Given the description of an element on the screen output the (x, y) to click on. 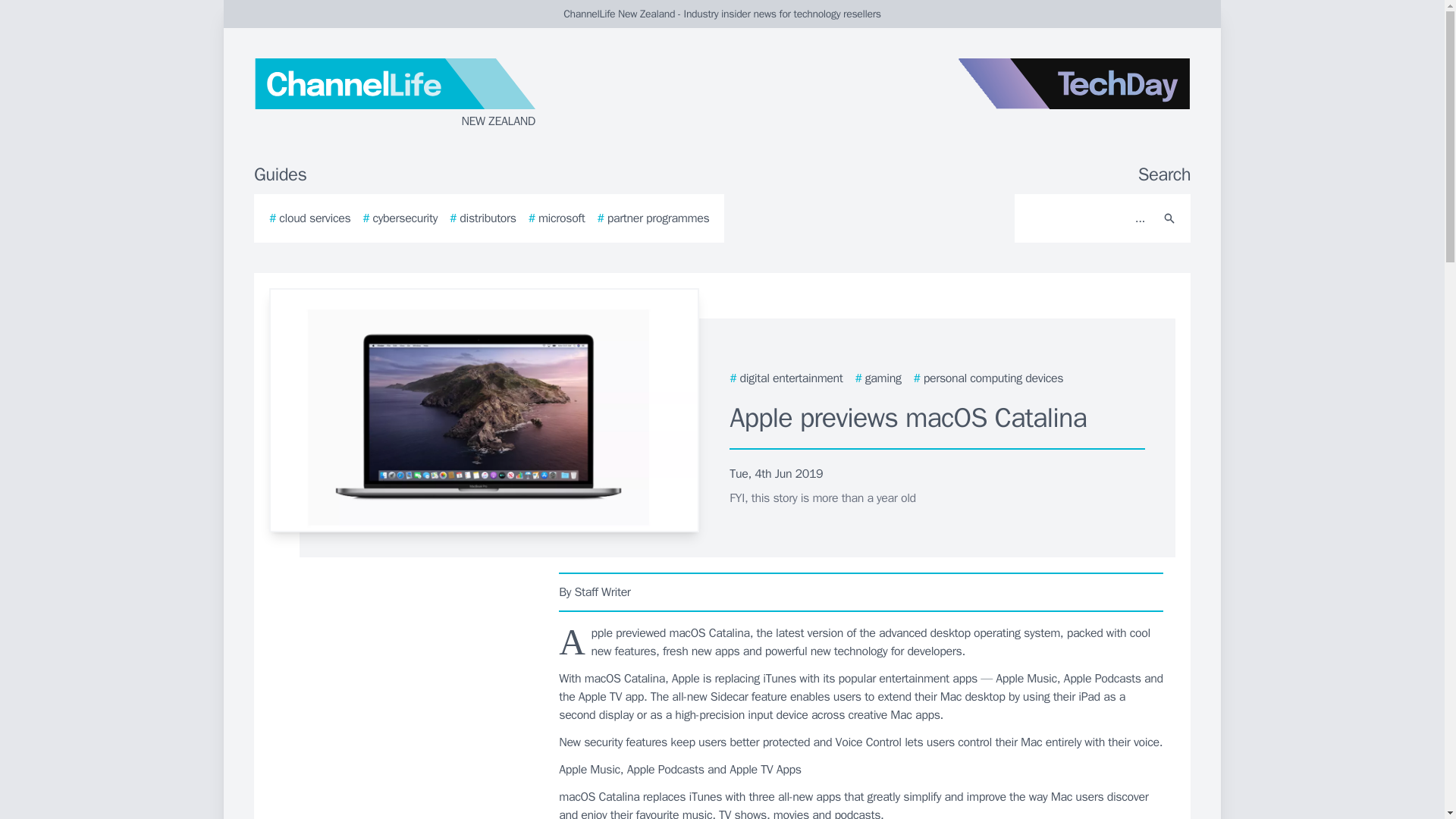
NEW ZEALAND (435, 94)
By Staff Writer (861, 592)
